Given the description of an element on the screen output the (x, y) to click on. 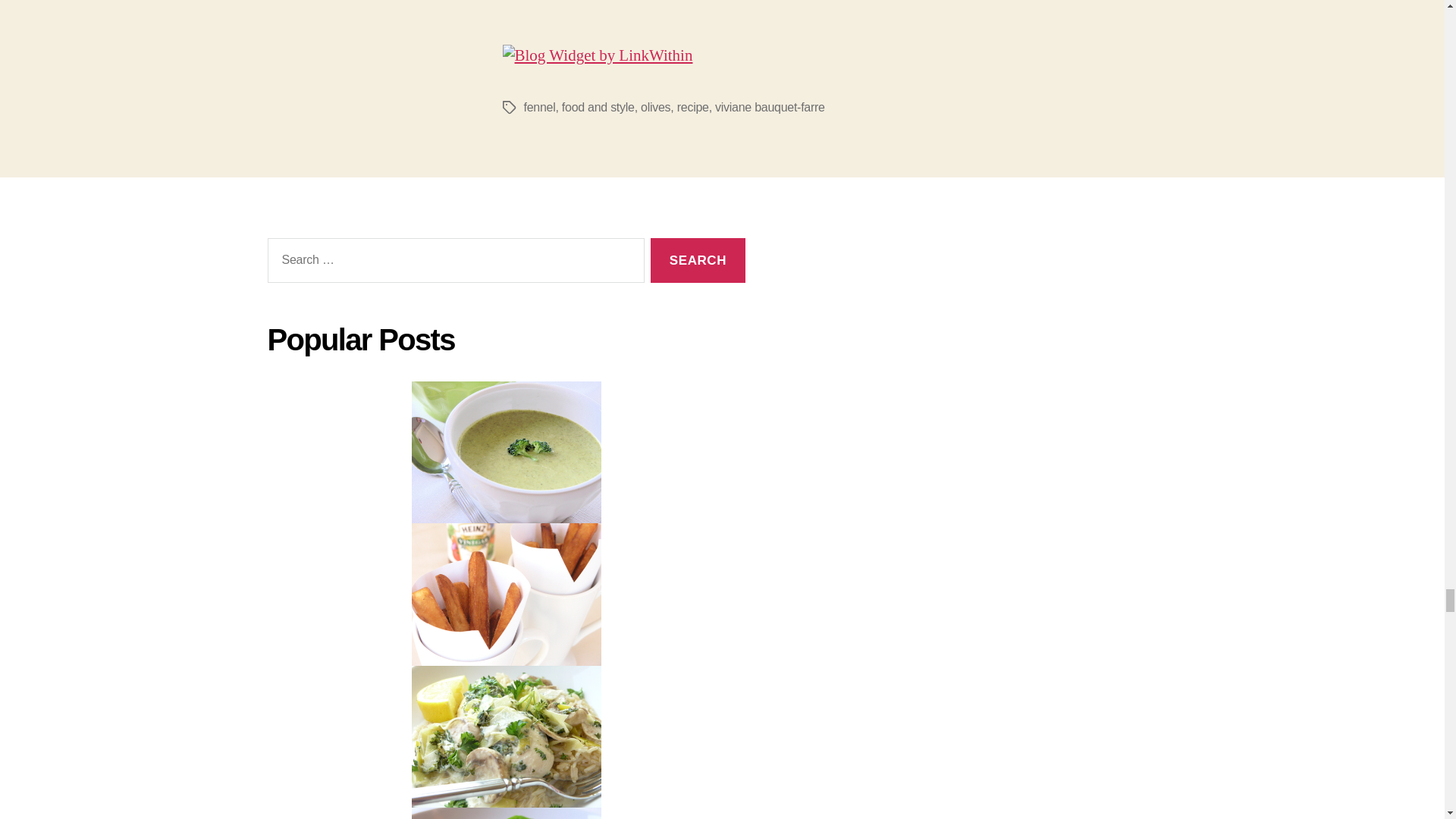
Search (697, 260)
Search (697, 260)
